Given the description of an element on the screen output the (x, y) to click on. 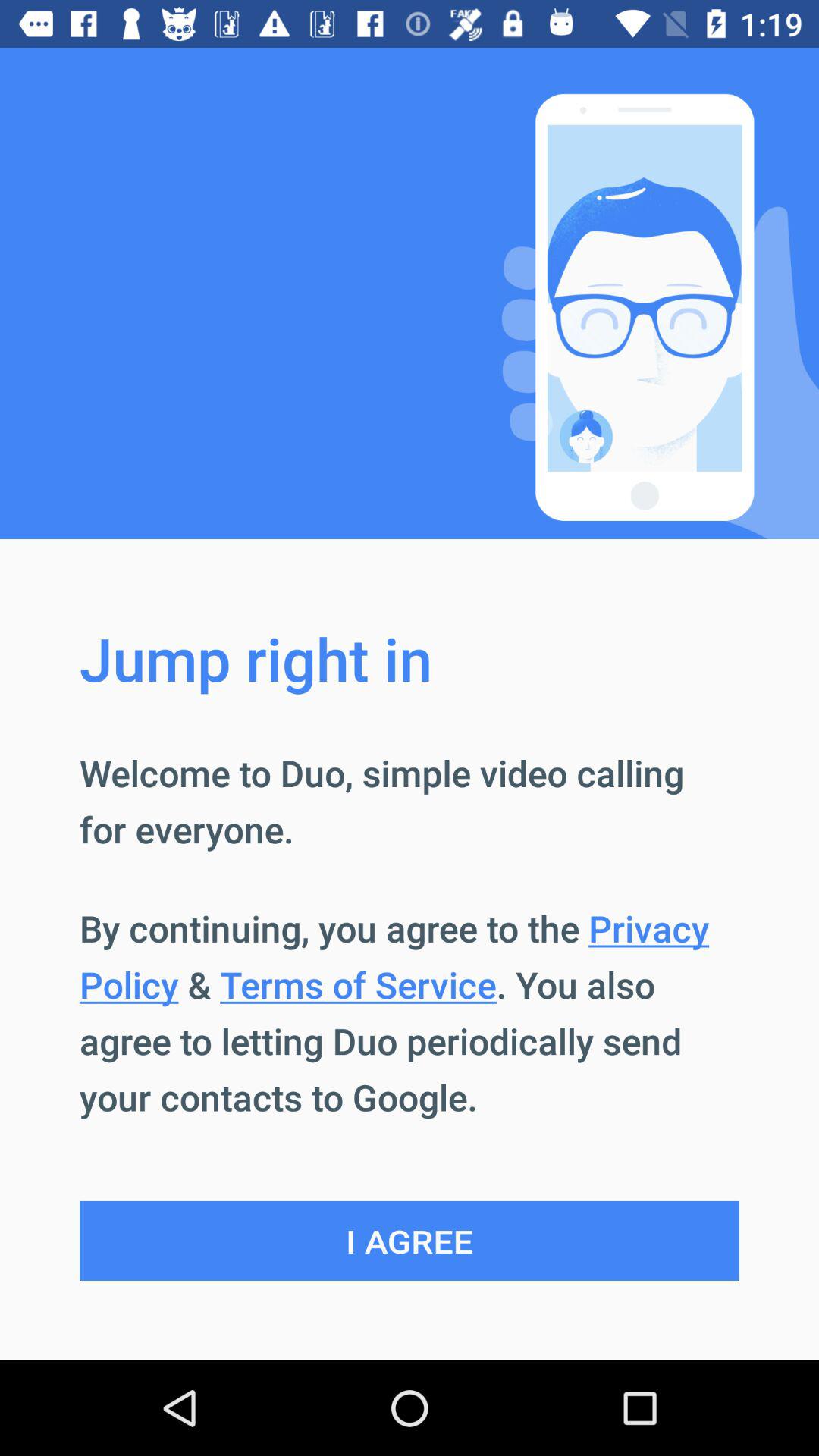
press icon below the by continuing you item (409, 1240)
